Given the description of an element on the screen output the (x, y) to click on. 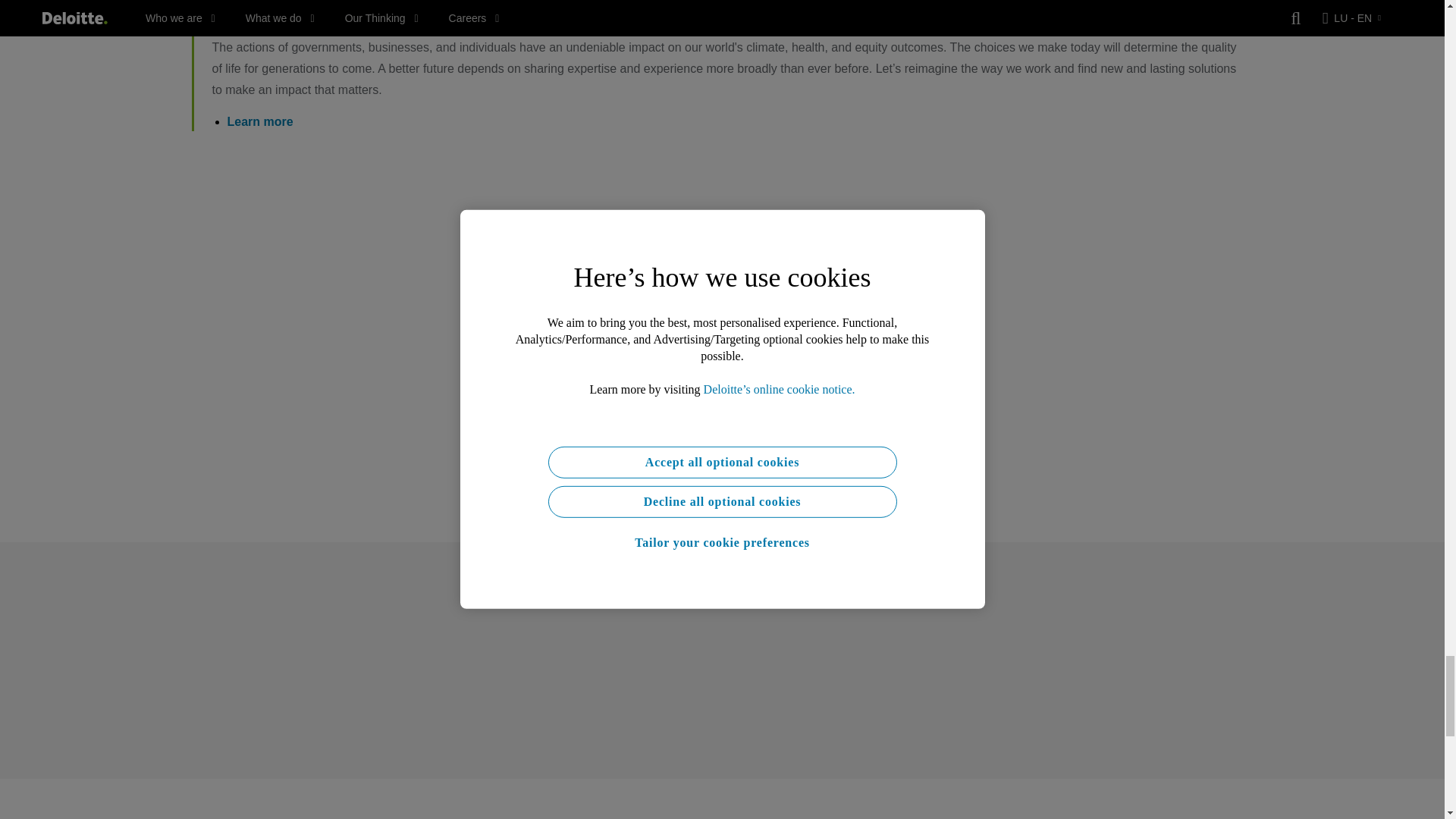
connect via linkedin (714, 387)
